Given the description of an element on the screen output the (x, y) to click on. 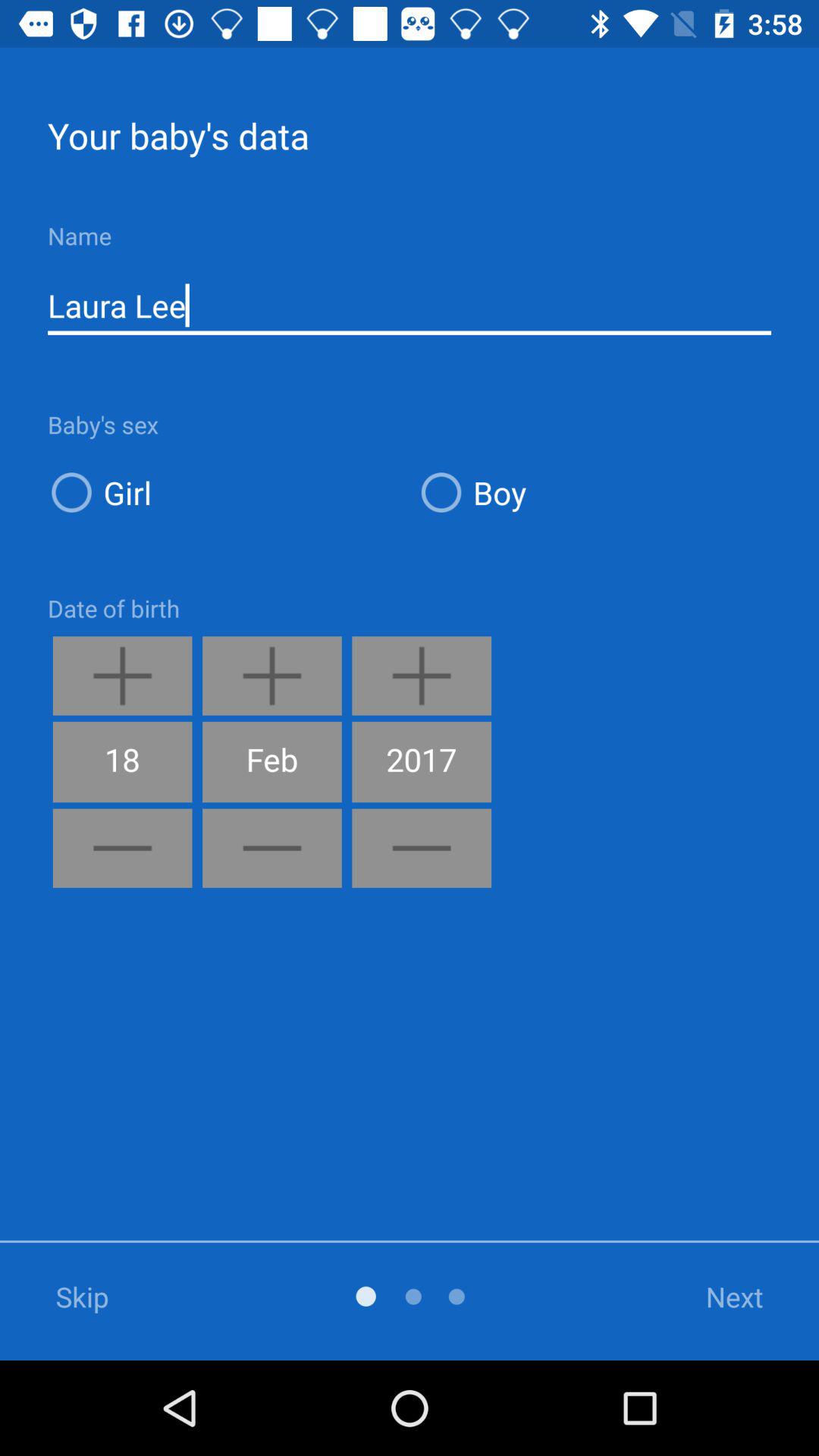
tap feb (271, 761)
